Given the description of an element on the screen output the (x, y) to click on. 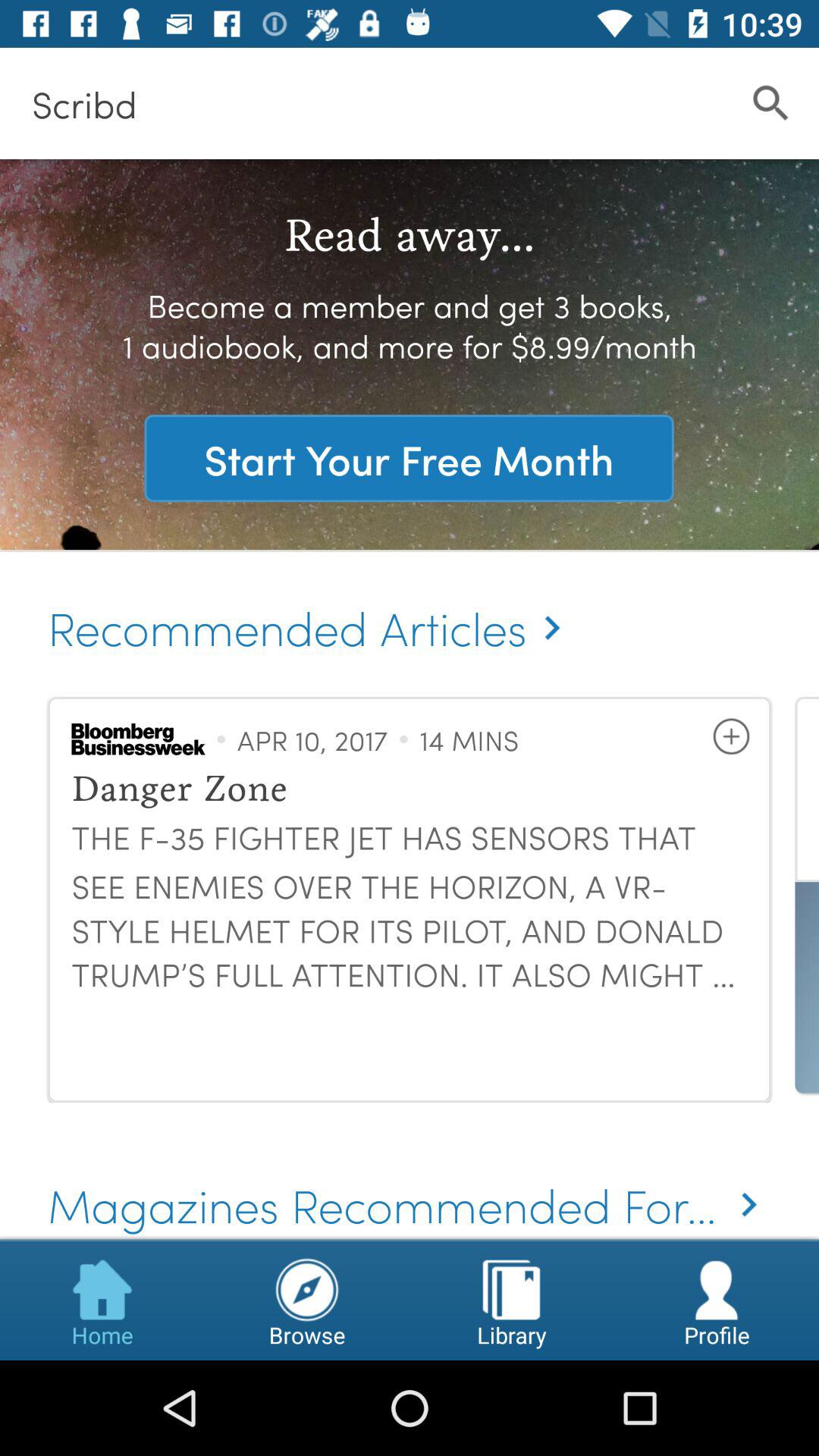
choose the icon above the recommended articles (408, 458)
